Given the description of an element on the screen output the (x, y) to click on. 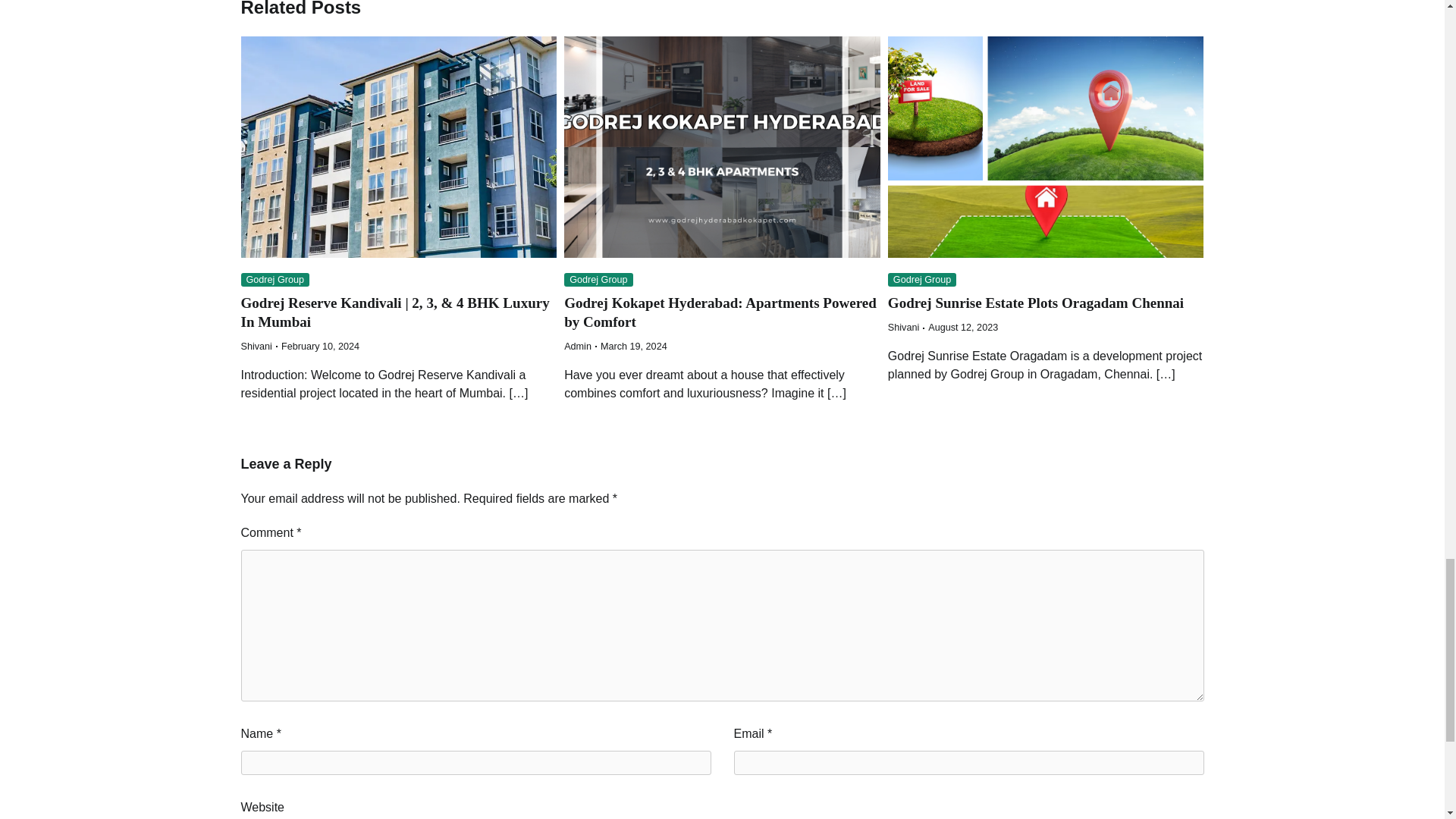
Shivani (903, 327)
Godrej Sunrise Estate Plots Oragadam Chennai (1035, 302)
Godrej Group (598, 279)
Godrej Kokapet Hyderabad: Apartments Powered by Comfort (720, 312)
Godrej Group (275, 279)
Shivani (256, 346)
Godrej Group (922, 279)
Admin (577, 346)
